Given the description of an element on the screen output the (x, y) to click on. 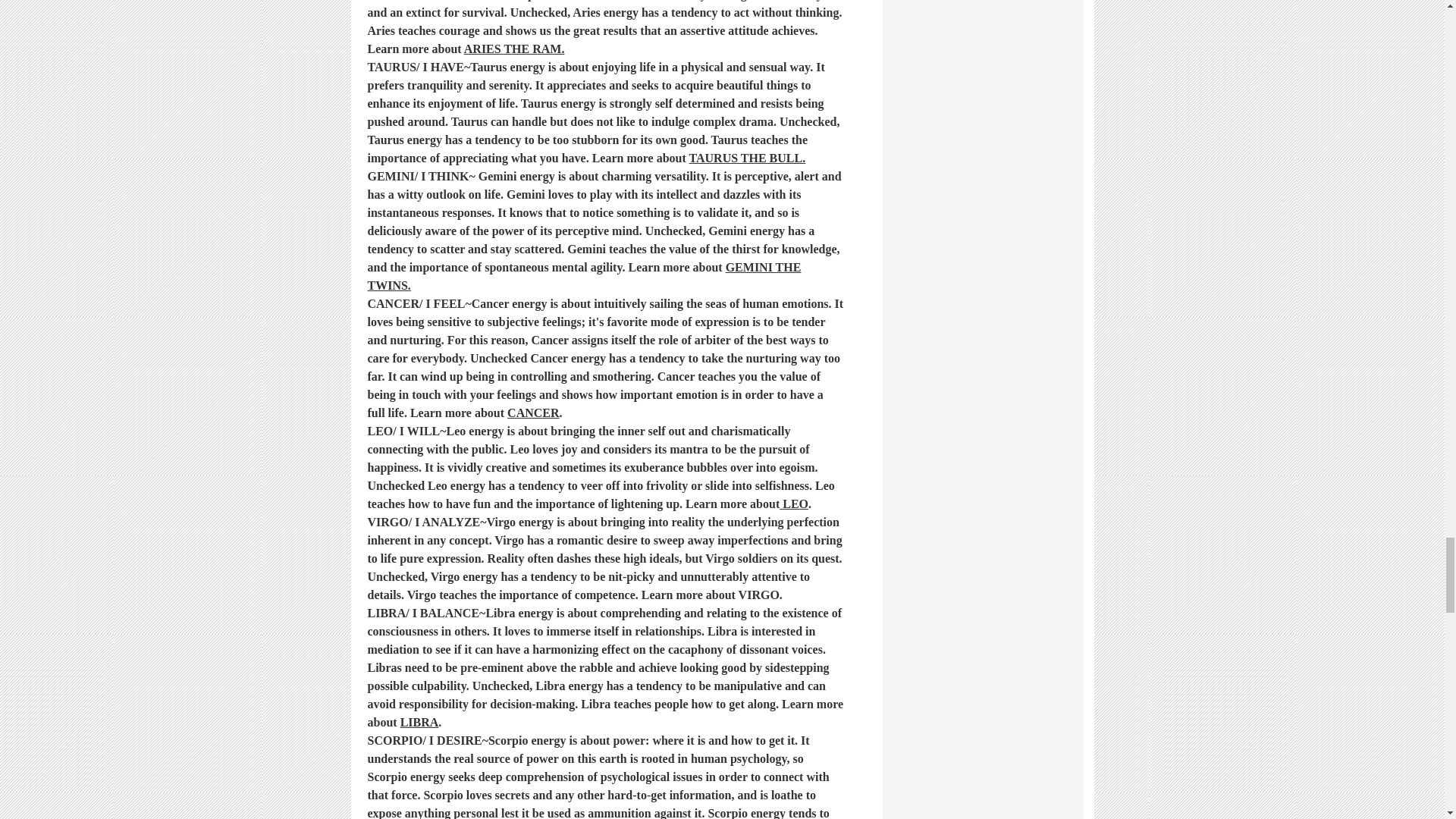
LEO (793, 505)
GEMINI THE TWINS. (583, 277)
ARIES THE RAM. (514, 49)
TAURUS THE BULL. (746, 159)
CANCER (532, 414)
LIBRA (419, 723)
